Given the description of an element on the screen output the (x, y) to click on. 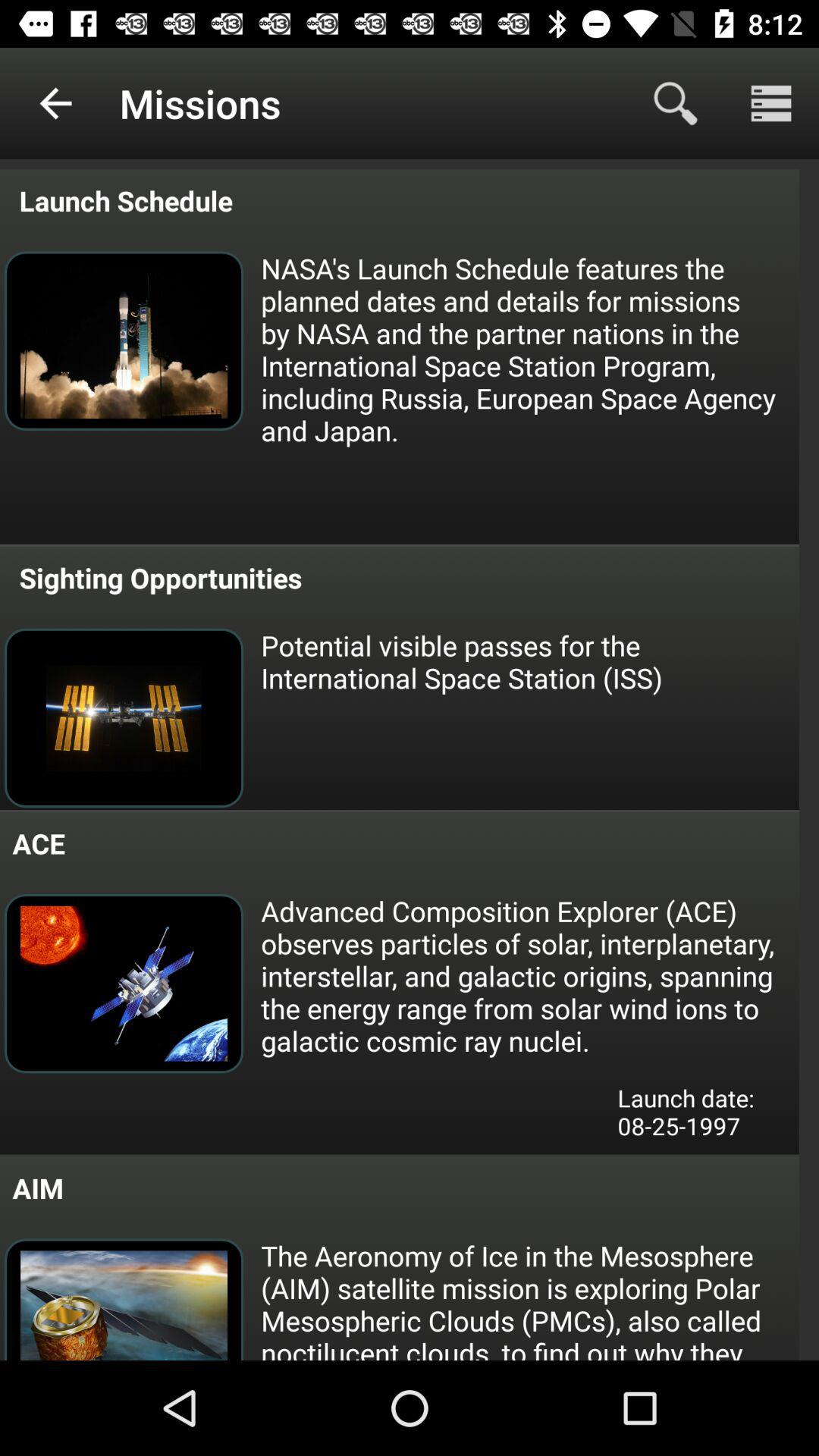
turn on the icon at the bottom right corner (696, 1116)
